Given the description of an element on the screen output the (x, y) to click on. 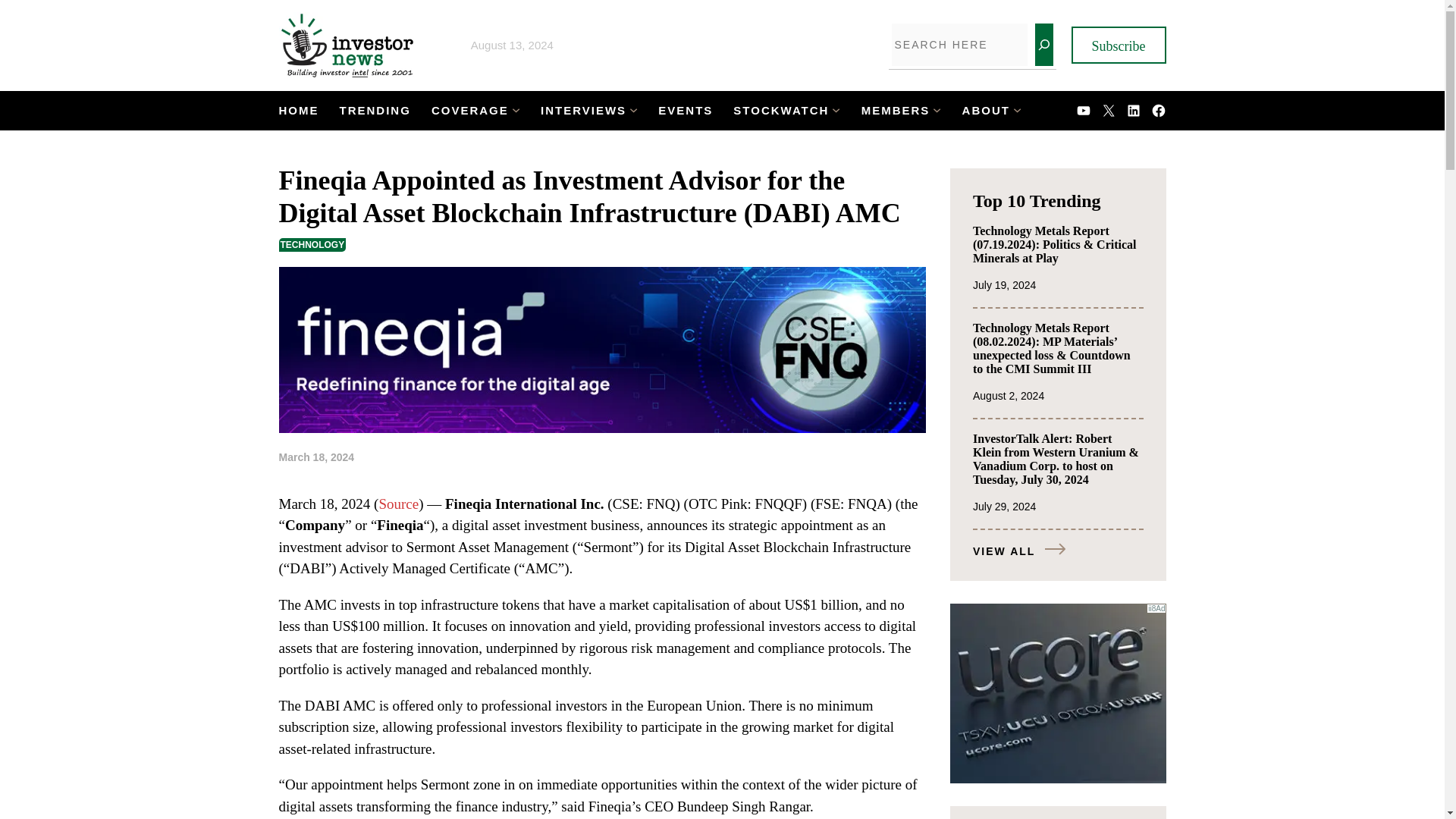
INTERVIEWS (583, 110)
Subscribe (1118, 44)
MEMBERS (895, 110)
HOME (298, 110)
STOCKWATCH (780, 110)
EVENTS (685, 110)
COVERAGE (469, 110)
TRENDING (374, 110)
ABOUT (986, 110)
